Given the description of an element on the screen output the (x, y) to click on. 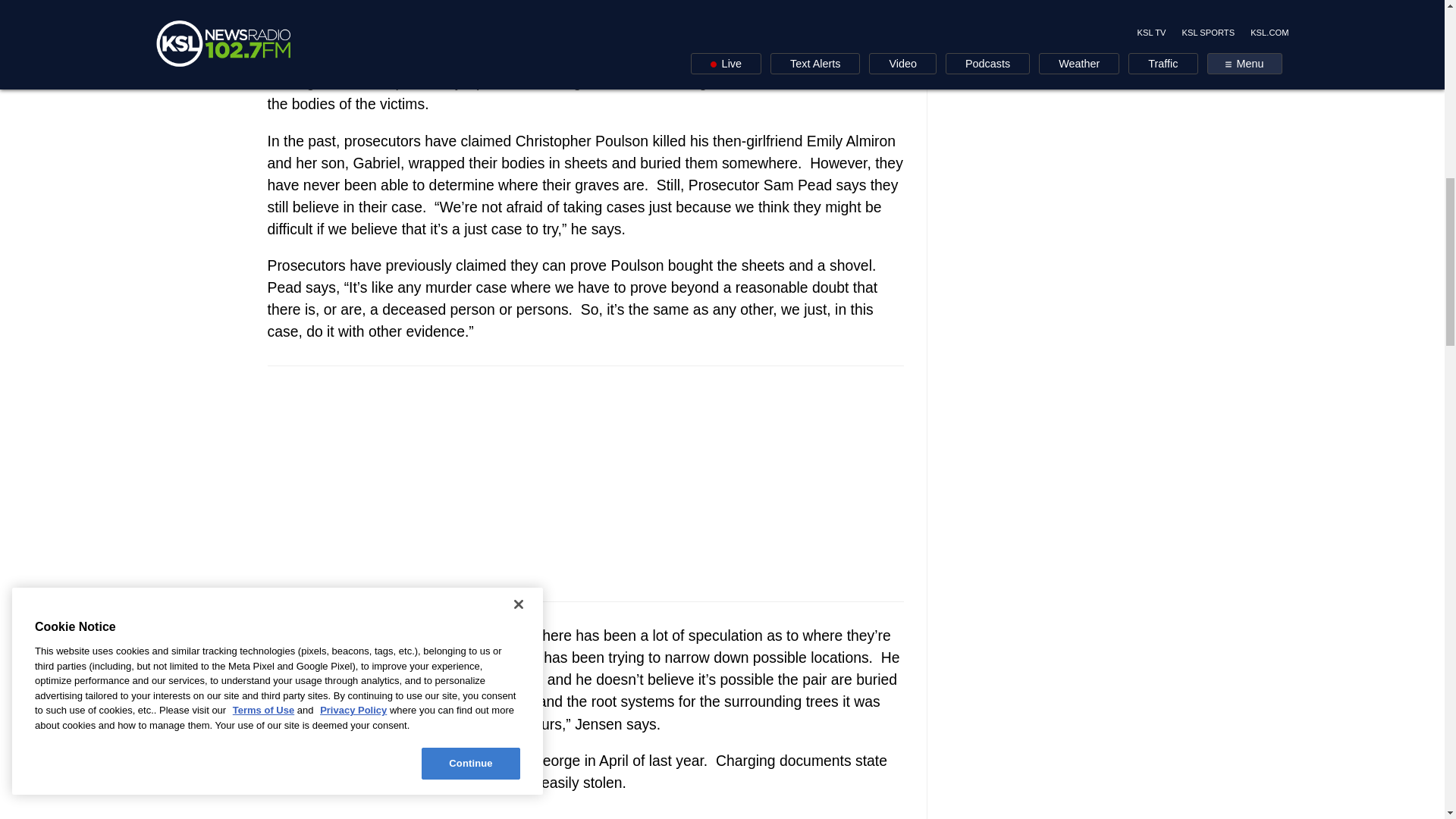
3rd party ad content (584, 483)
3rd party ad content (1062, 80)
Signup Widget Embed (584, 813)
